Given the description of an element on the screen output the (x, y) to click on. 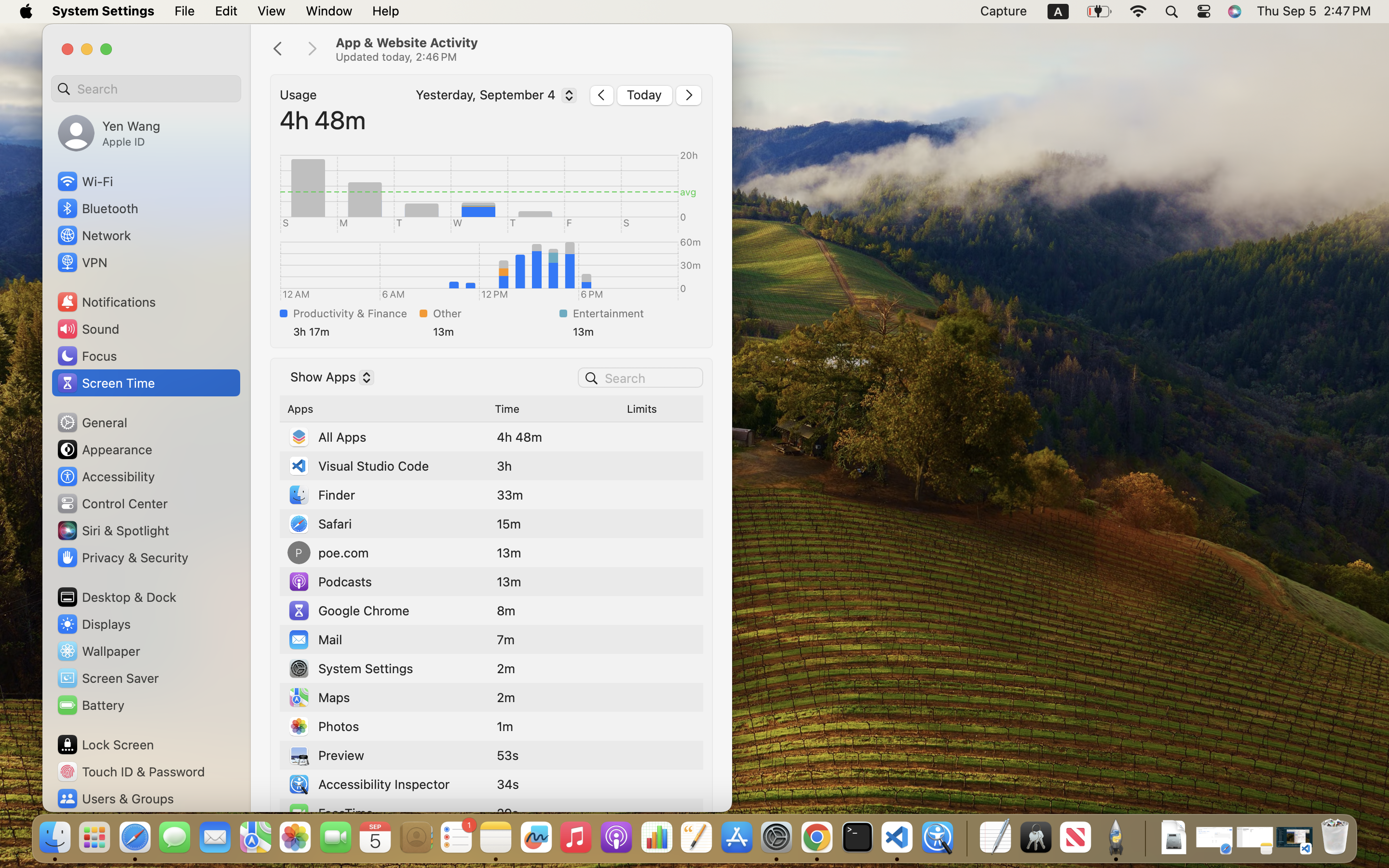
Displays Element type: AXStaticText (93, 623)
1m Element type: AXStaticText (504, 725)
Privacy & Security Element type: AXStaticText (121, 557)
Visual Studio Code Element type: AXStaticText (358, 465)
4h 48m Element type: AXStaticText (322, 119)
